Given the description of an element on the screen output the (x, y) to click on. 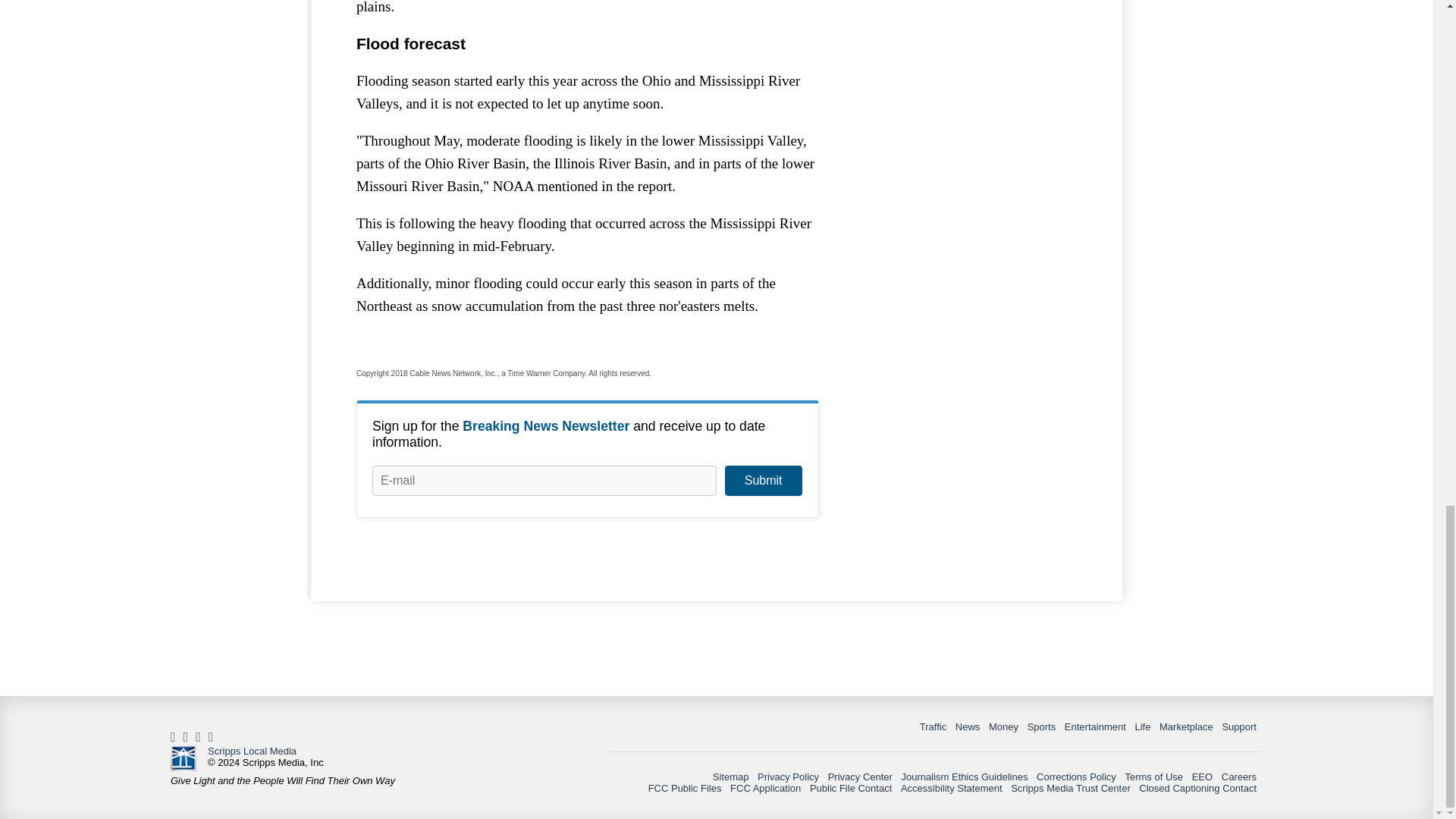
Submit (763, 481)
